Given the description of an element on the screen output the (x, y) to click on. 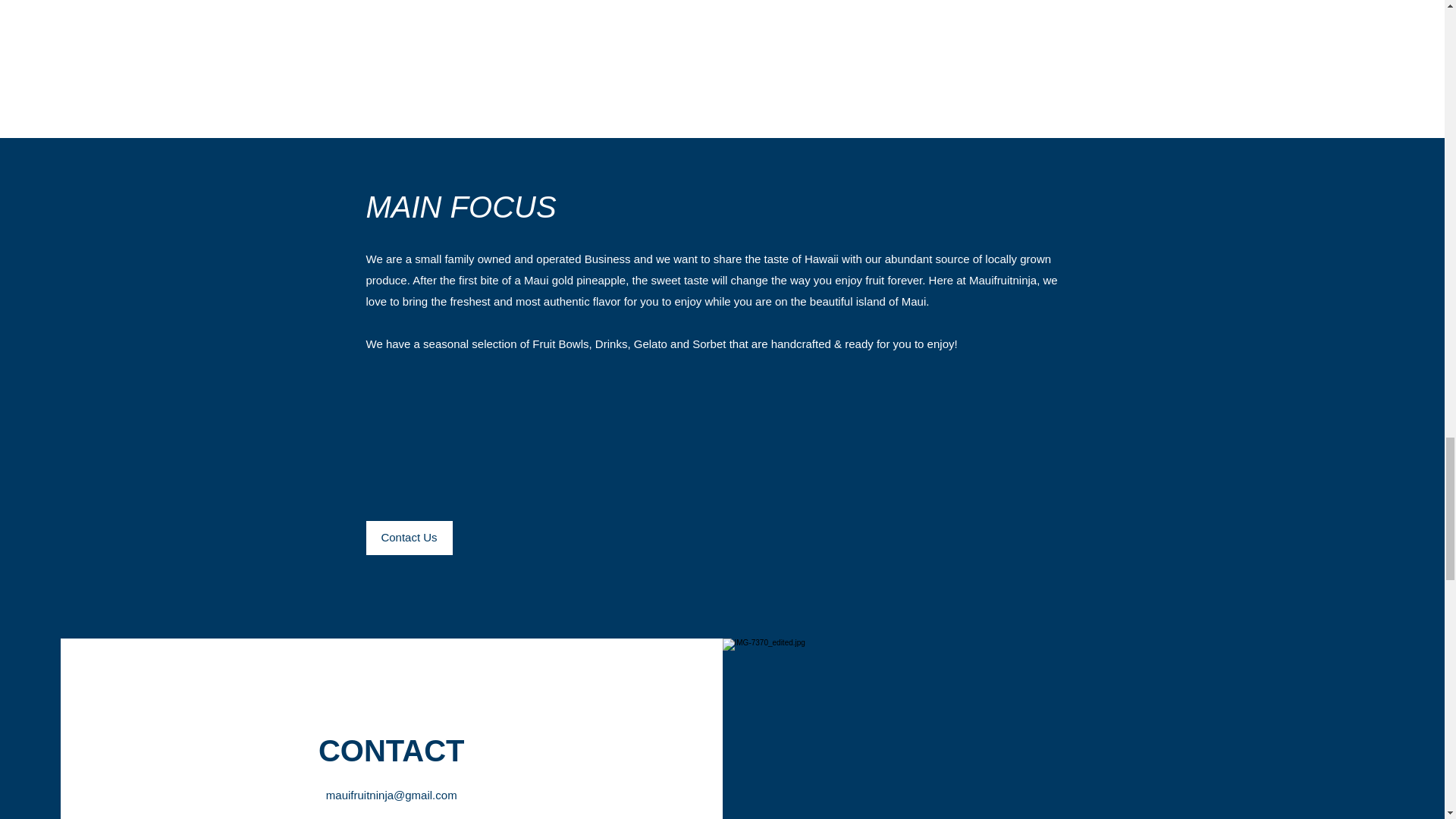
Contact Us (408, 537)
